Given the description of an element on the screen output the (x, y) to click on. 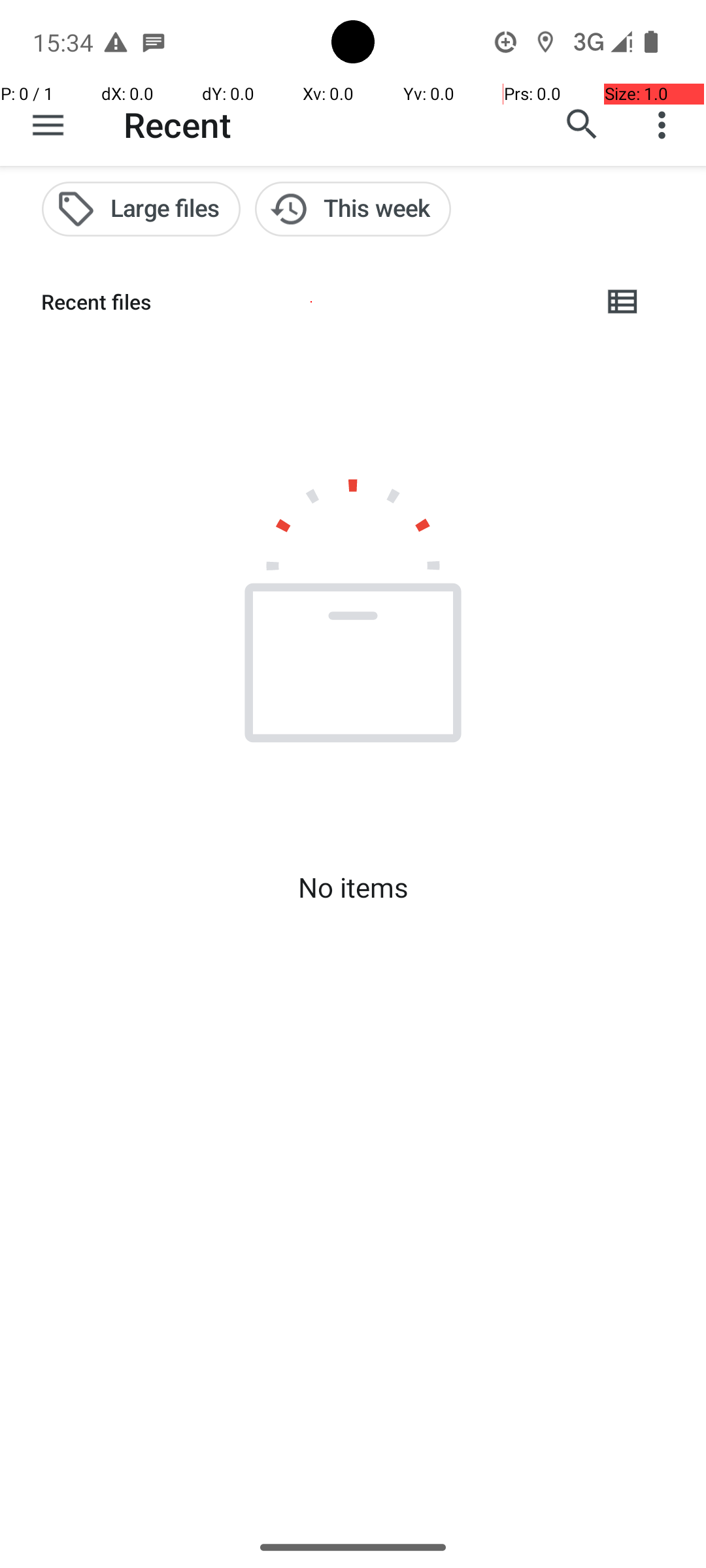
Show roots Element type: android.widget.ImageButton (48, 124)
Recent Element type: android.widget.TextView (177, 124)
Recent files Element type: android.widget.TextView (311, 301)
List view Element type: android.widget.TextView (622, 301)
Large files Element type: android.widget.CompoundButton (140, 208)
This week Element type: android.widget.CompoundButton (352, 208)
No items Element type: android.widget.TextView (352, 886)
